Given the description of an element on the screen output the (x, y) to click on. 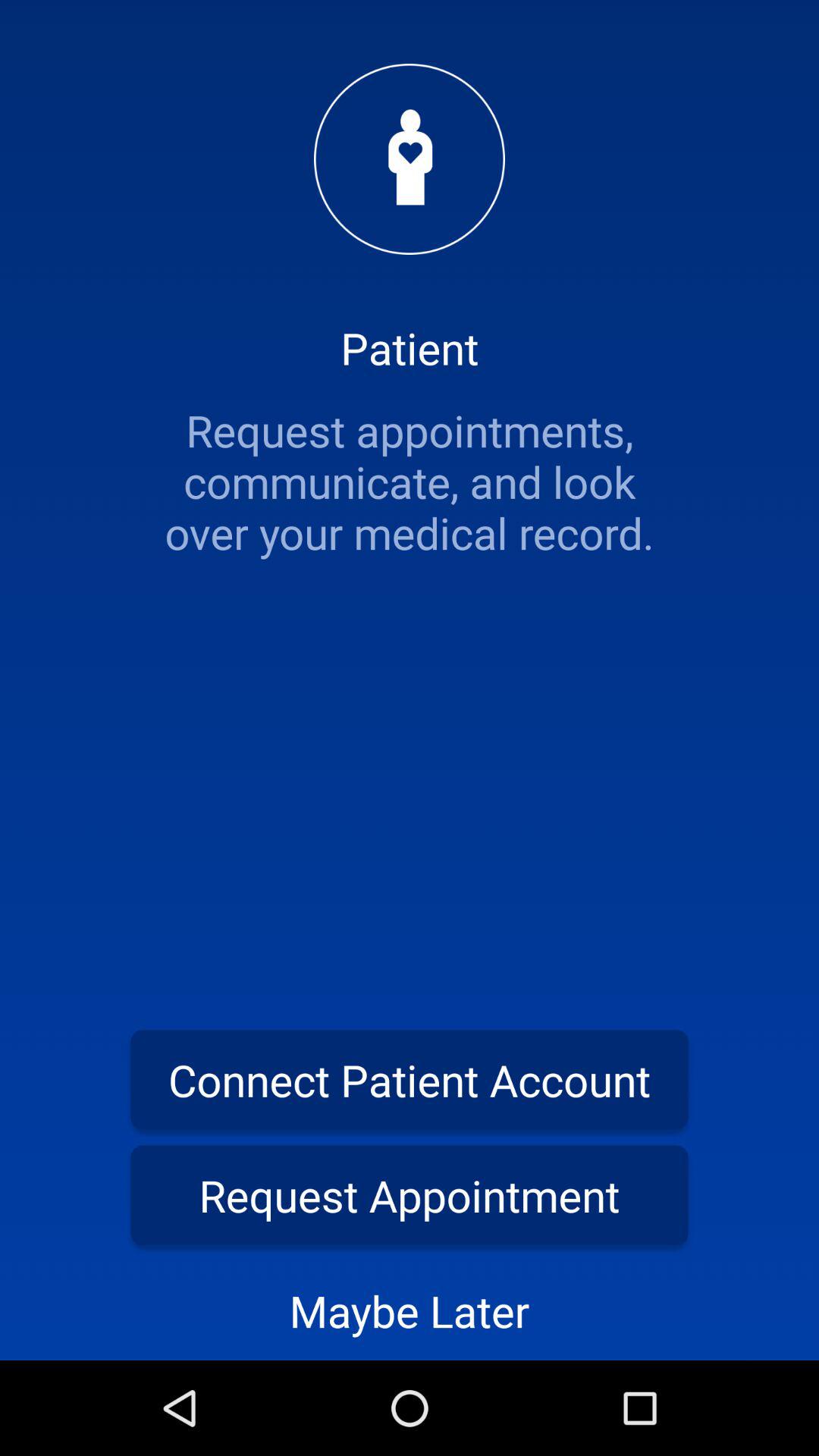
open item below the connect patient account (409, 1194)
